Given the description of an element on the screen output the (x, y) to click on. 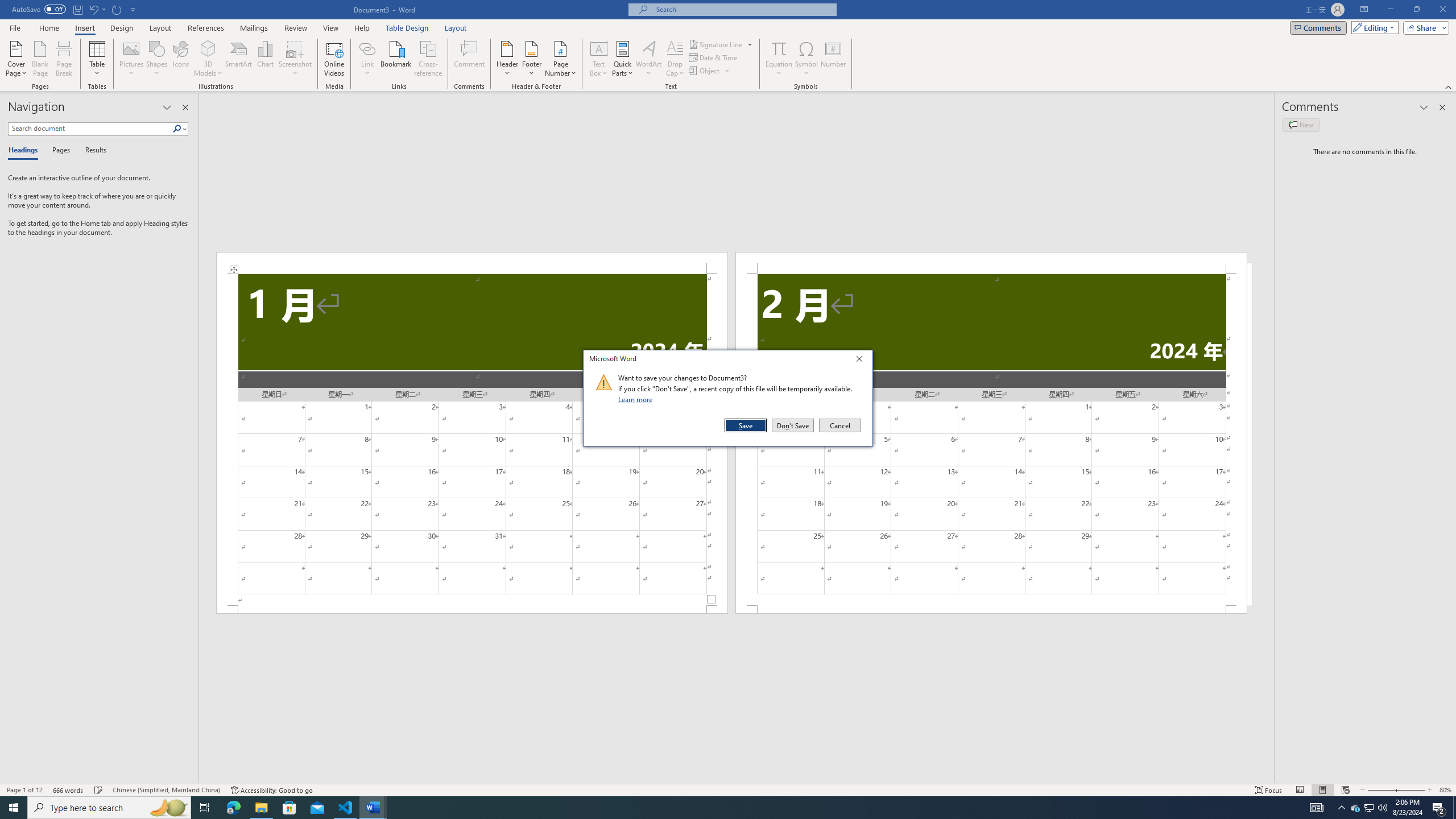
Don't Save (792, 425)
Text Box (598, 58)
Signature Line (716, 44)
SmartArt... (238, 58)
Comment (469, 58)
Object... (709, 69)
3D Models (208, 58)
Screenshot (295, 58)
